Given the description of an element on the screen output the (x, y) to click on. 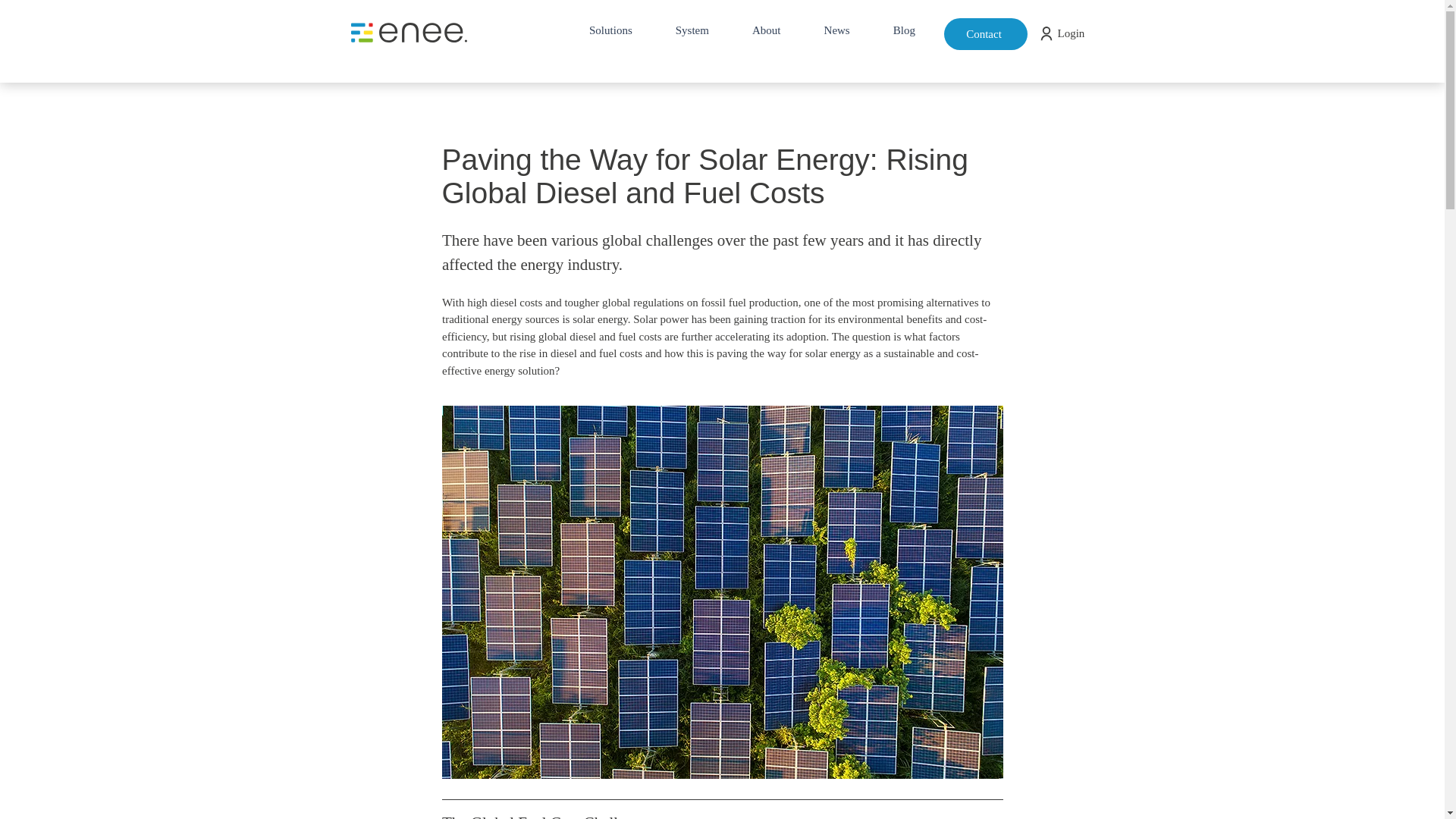
Contact (984, 33)
System (691, 30)
Blog (904, 30)
Solutions (610, 30)
News (836, 30)
Login (1070, 33)
About (766, 30)
